Given the description of an element on the screen output the (x, y) to click on. 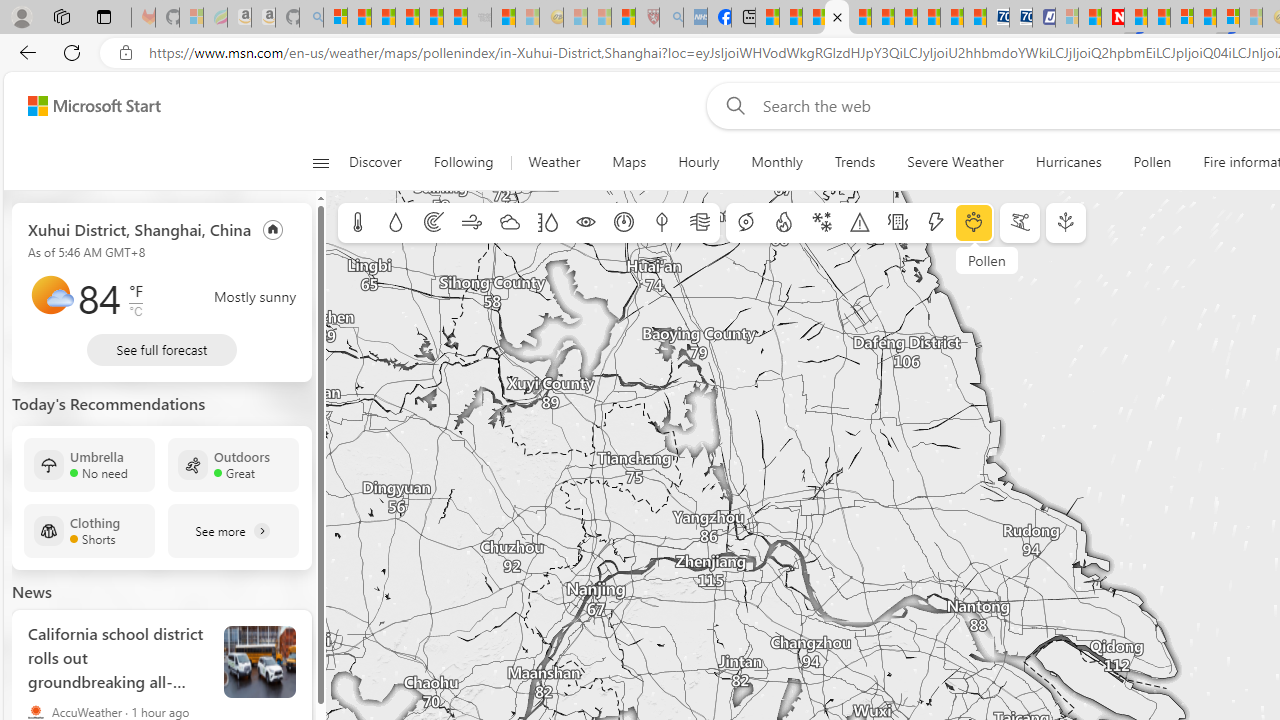
Combat Siege - Sleeping (479, 17)
Maps (629, 162)
Temperature (358, 223)
Radar (433, 223)
Cheap Hotels - Save70.com (1020, 17)
Pollen (1152, 162)
Hurricanes (1067, 162)
